Given the description of an element on the screen output the (x, y) to click on. 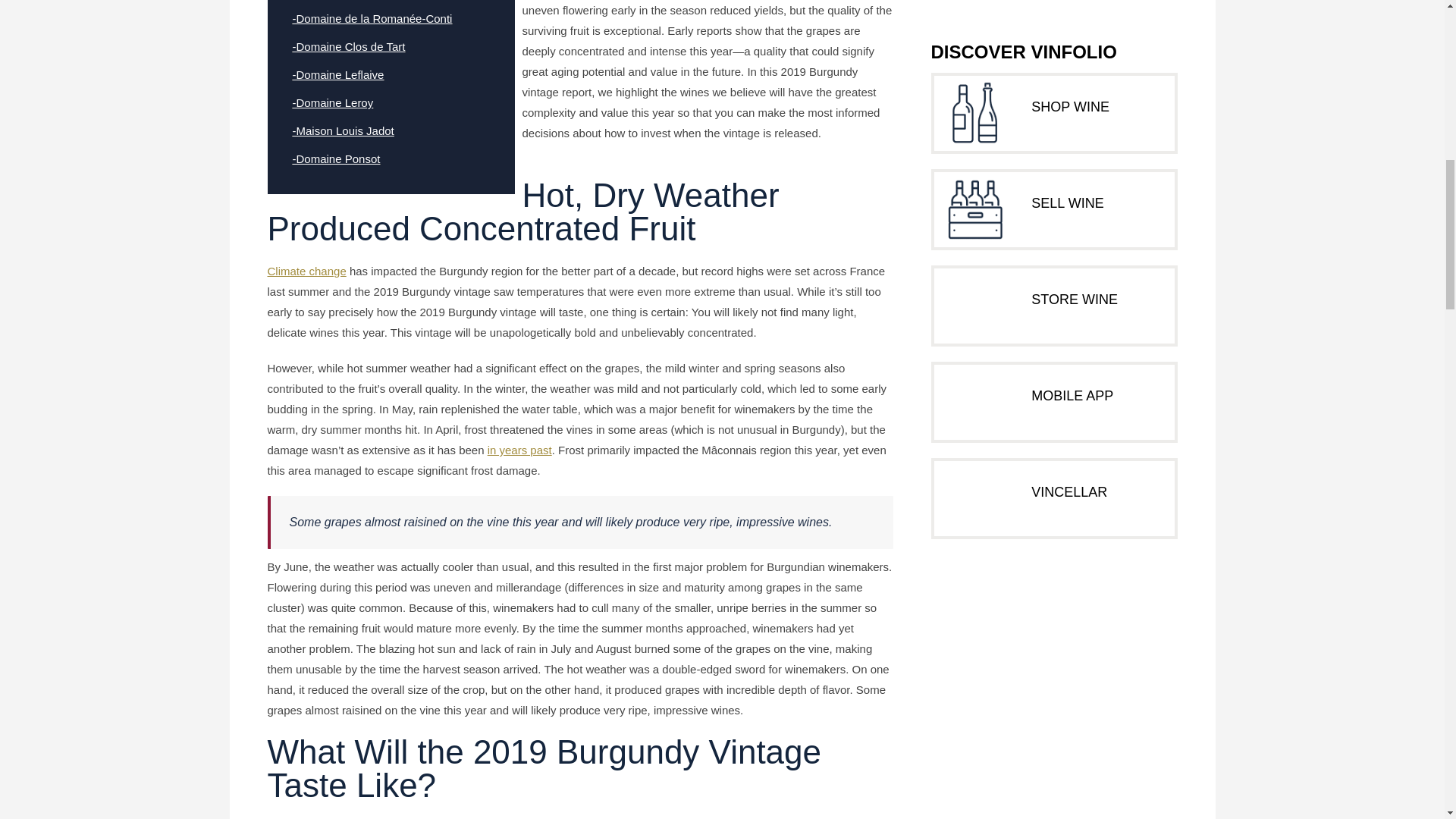
-Domaine Leflaive (338, 74)
-Domaine Ponsot (336, 158)
Climate change (306, 270)
-Domaine Leroy (333, 102)
in years past (519, 449)
-Maison Louis Jadot (343, 130)
-Domaine Clos de Tart (349, 46)
